Given the description of an element on the screen output the (x, y) to click on. 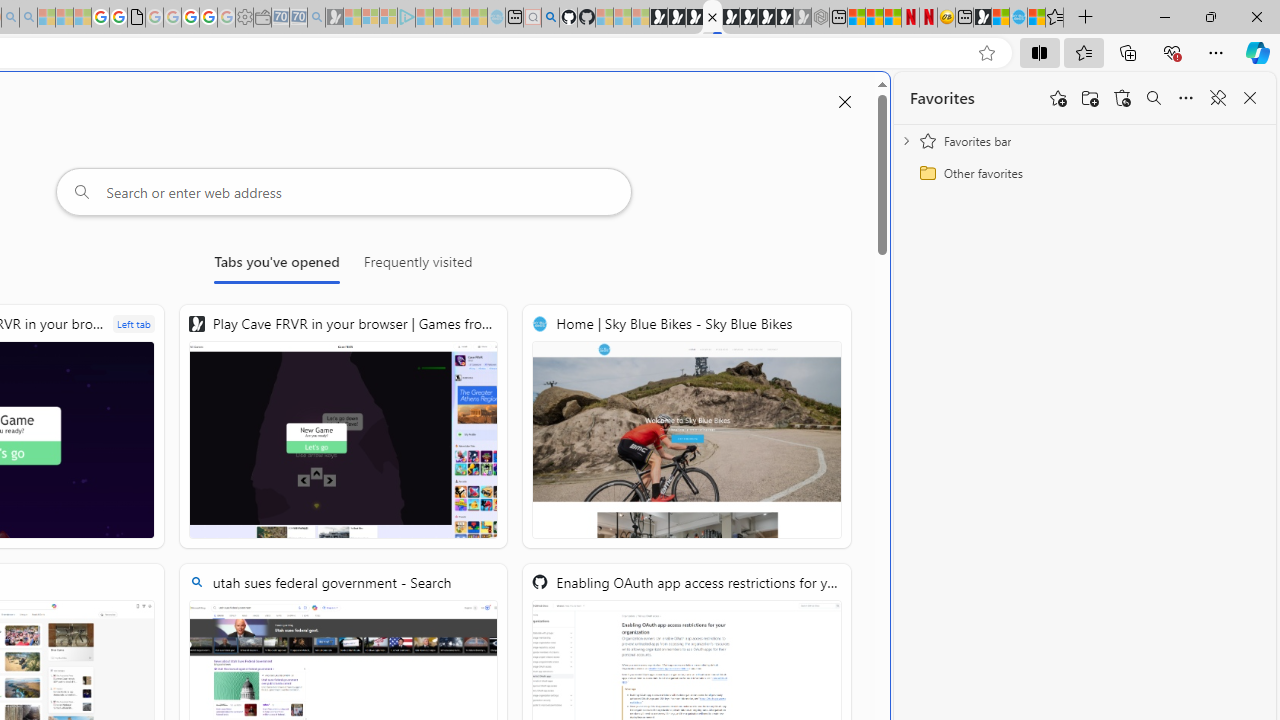
Settings - Sleeping (244, 17)
Wallet - Sleeping (262, 17)
Close split screen (844, 102)
New split screen (712, 17)
github - Search (550, 17)
google_privacy_policy_zh-CN.pdf (136, 17)
